Given the description of an element on the screen output the (x, y) to click on. 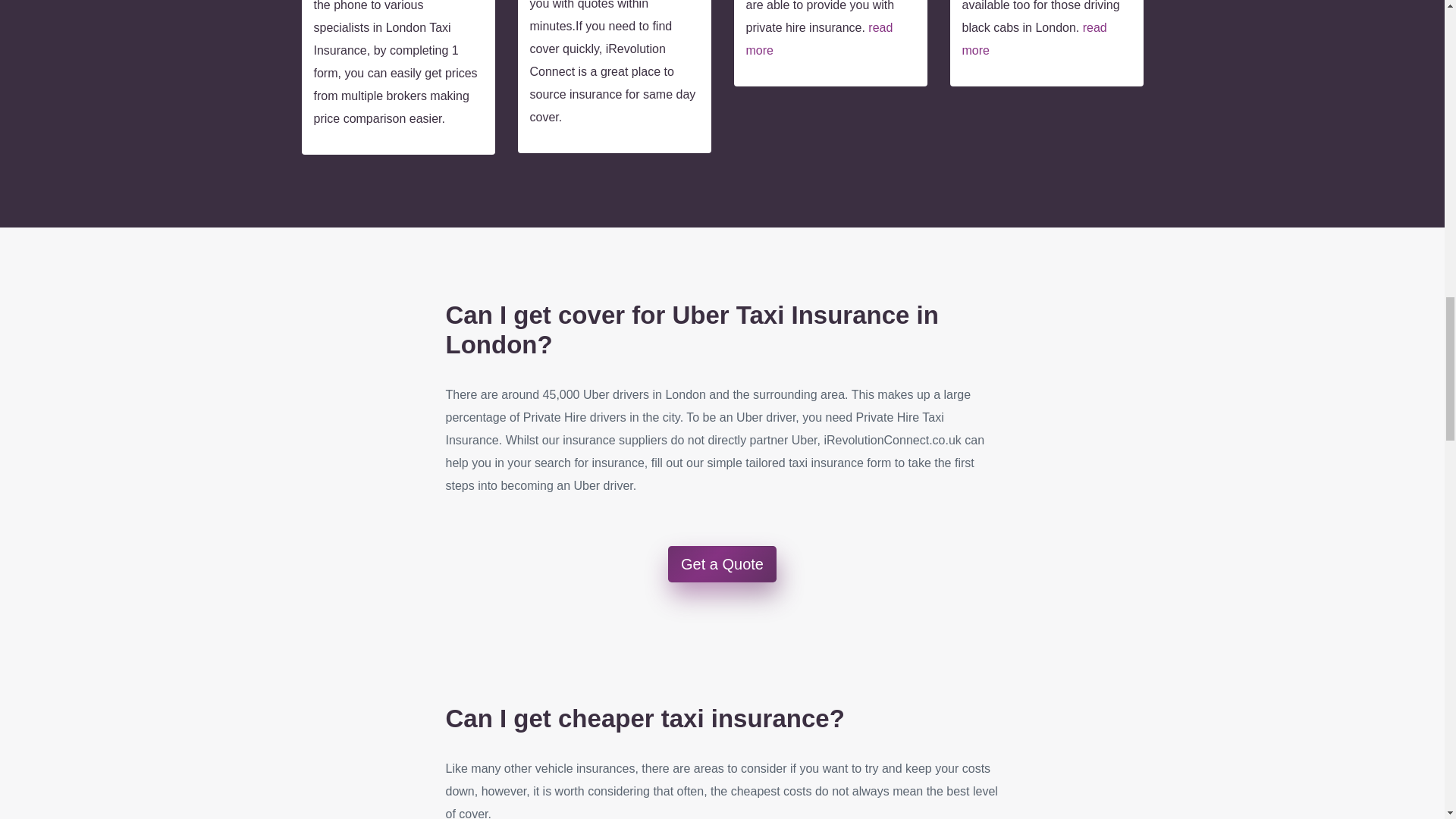
Get a Quote (722, 564)
read more (1033, 38)
read more (819, 38)
